Given the description of an element on the screen output the (x, y) to click on. 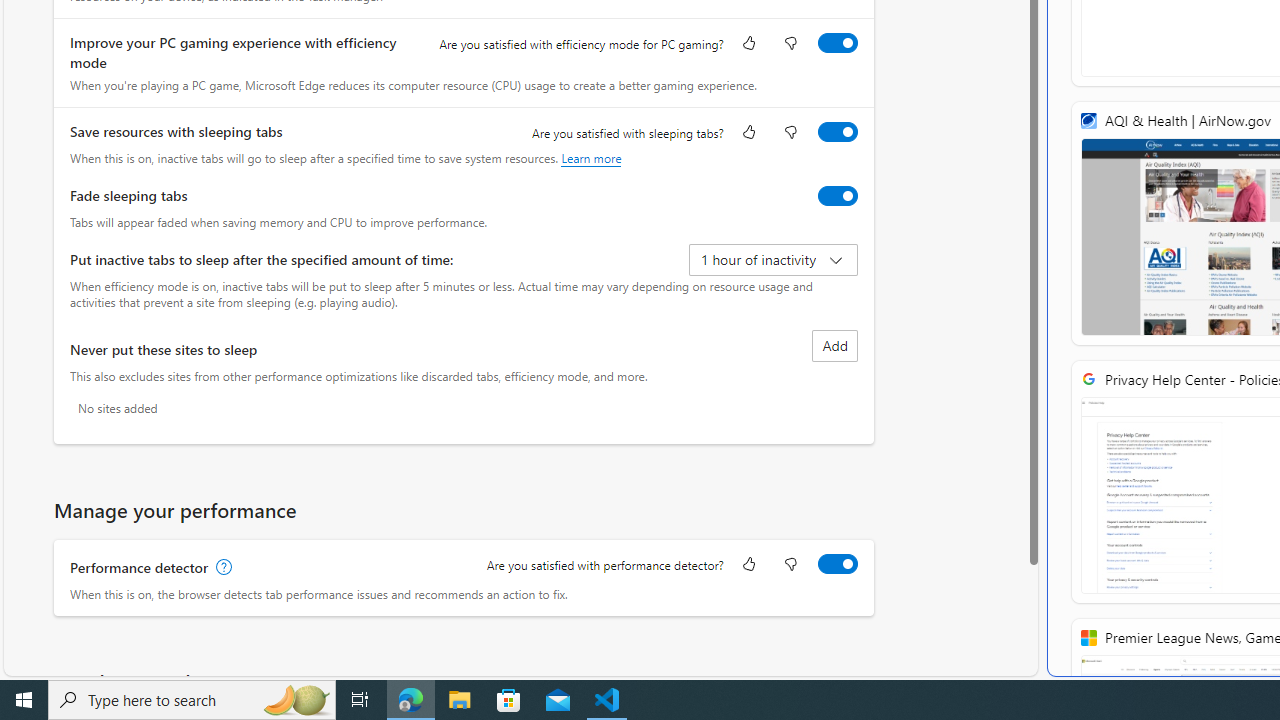
Save resources with sleeping tabs (837, 131)
Add site to never put these sites to sleep list (834, 345)
Learn more (591, 158)
Performance detector (837, 563)
Improve your PC gaming experience with efficiency mode (837, 43)
Performance detector, learn more (221, 567)
Fade sleeping tabs (837, 195)
Like (748, 565)
